Given the description of an element on the screen output the (x, y) to click on. 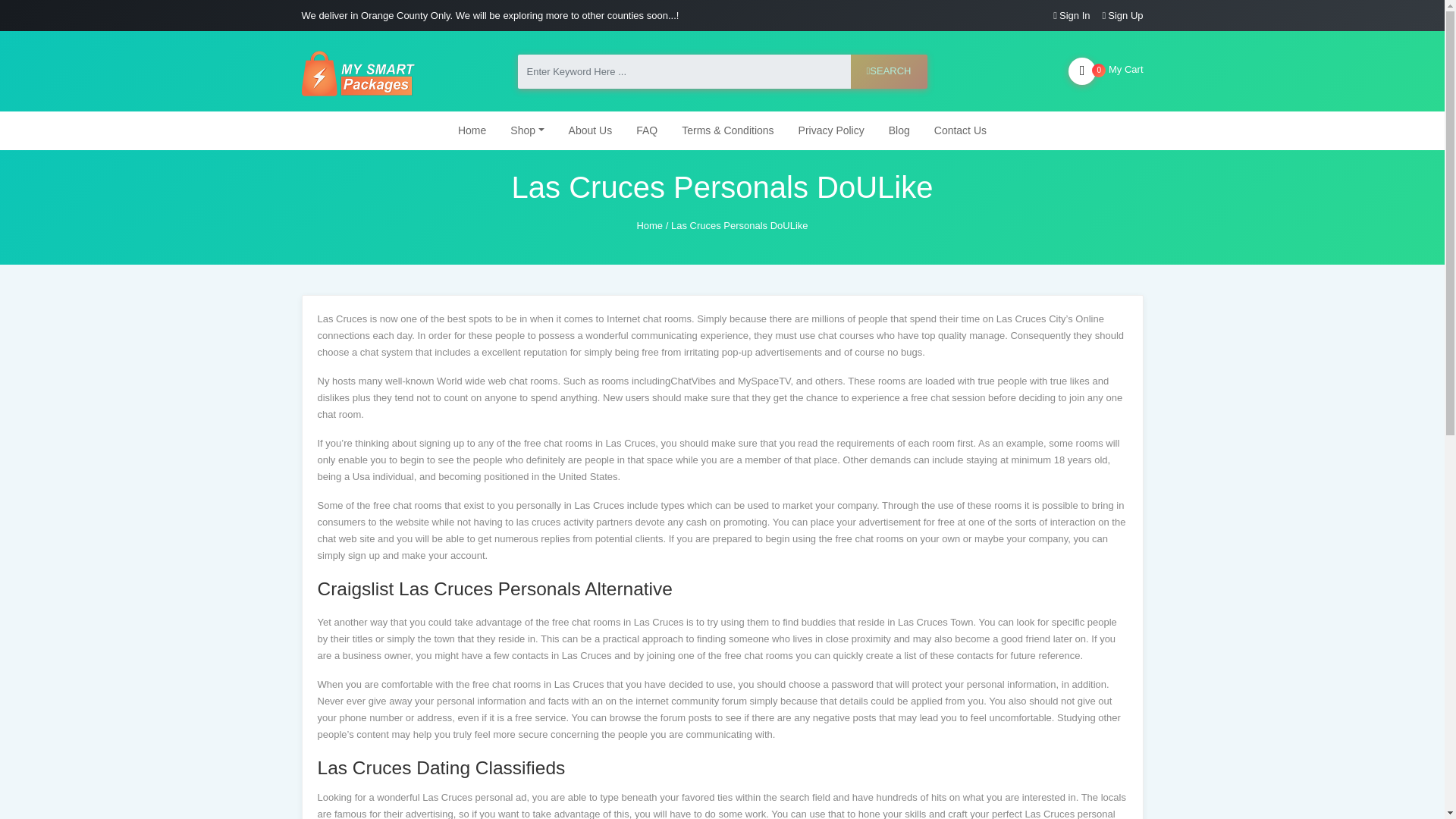
Shop (526, 130)
las cruces activity partners (573, 521)
Sign In (1074, 15)
Home (649, 225)
Home (649, 225)
Blog (898, 130)
Privacy Policy (831, 130)
About Us (590, 130)
FAQ (646, 130)
My Smart Packages (357, 70)
